Given the description of an element on the screen output the (x, y) to click on. 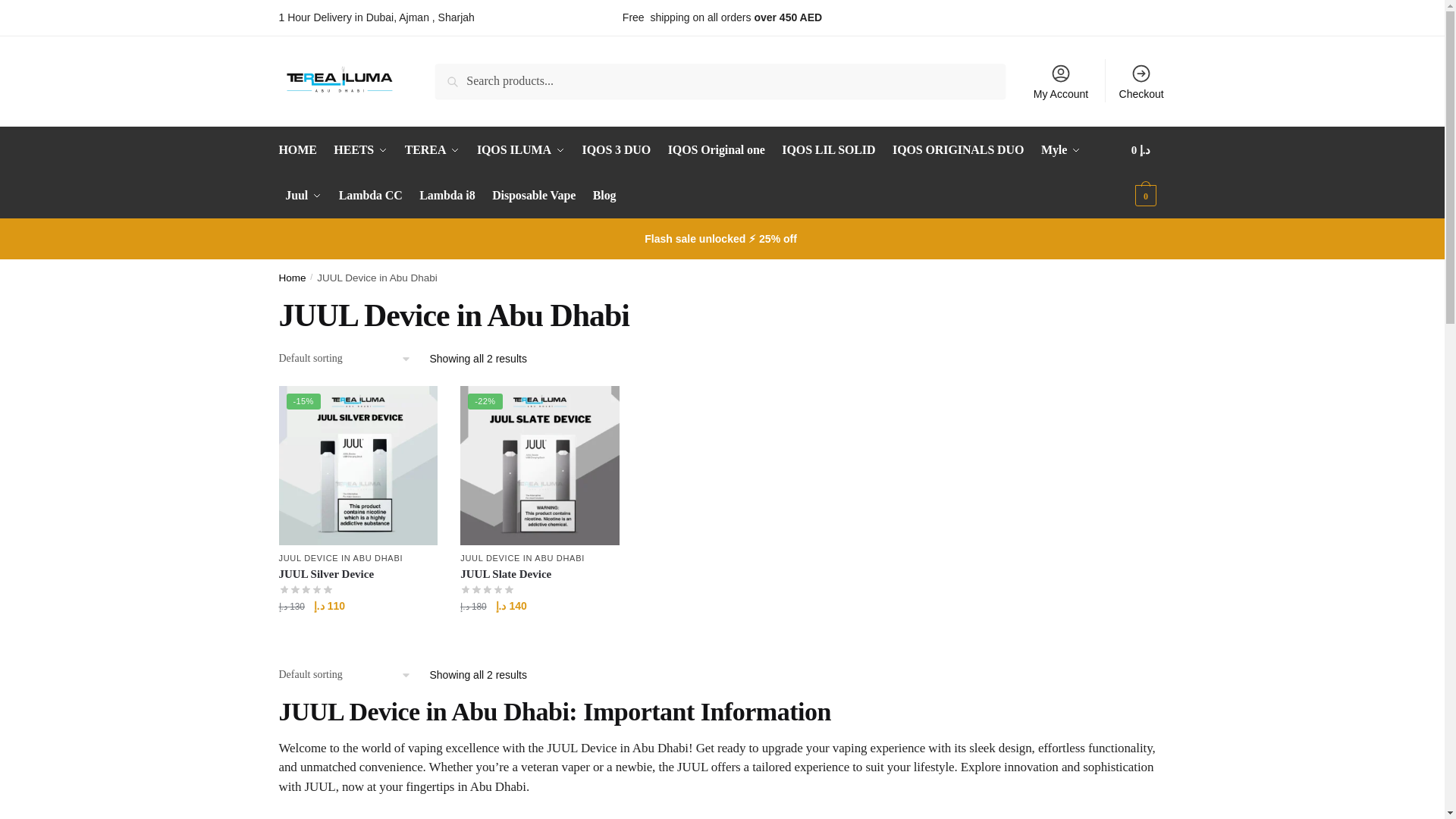
My Account (1061, 80)
JUUL Silver Device (358, 465)
TEREA (431, 149)
IQOS Original one (716, 149)
IQOS LIL SOLID (829, 149)
HEETS (360, 149)
IQOS 3 DUO (616, 149)
IQOS ILUMA (521, 149)
IQOS ORIGINALS DUO (957, 149)
HOME (301, 149)
Juul (304, 195)
JUUL Slate Device (540, 465)
Myle (1060, 149)
Checkout (1141, 80)
Search (456, 74)
